Given the description of an element on the screen output the (x, y) to click on. 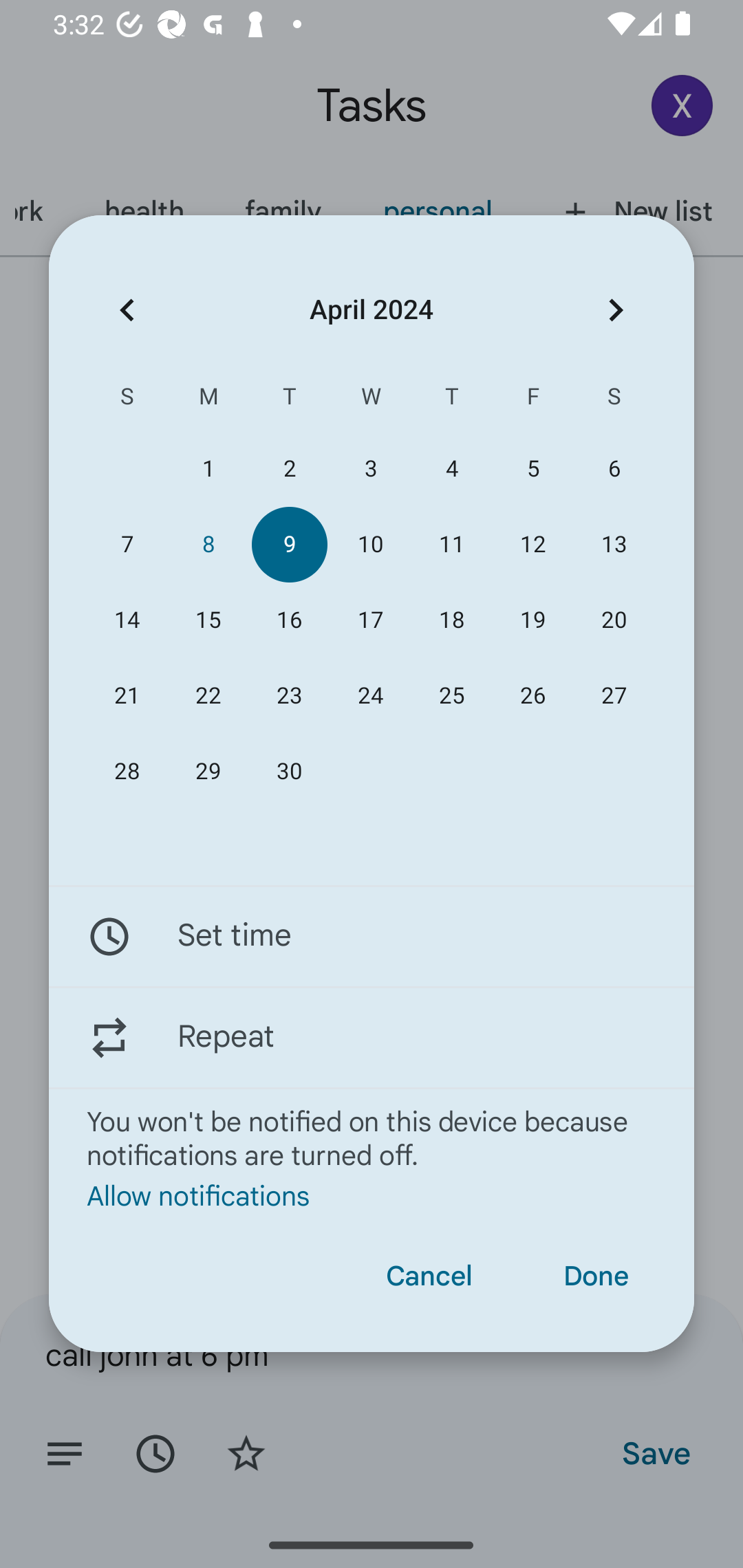
Previous month (126, 309)
Next month (615, 309)
1 01 April 2024 (207, 468)
2 02 April 2024 (288, 468)
3 03 April 2024 (370, 468)
4 04 April 2024 (451, 468)
5 05 April 2024 (532, 468)
6 06 April 2024 (613, 468)
7 07 April 2024 (126, 543)
8 08 April 2024 (207, 543)
9 09 April 2024 (288, 543)
10 10 April 2024 (370, 543)
11 11 April 2024 (451, 543)
12 12 April 2024 (532, 543)
13 13 April 2024 (613, 543)
14 14 April 2024 (126, 619)
15 15 April 2024 (207, 619)
16 16 April 2024 (288, 619)
17 17 April 2024 (370, 619)
18 18 April 2024 (451, 619)
19 19 April 2024 (532, 619)
20 20 April 2024 (613, 619)
21 21 April 2024 (126, 695)
22 22 April 2024 (207, 695)
23 23 April 2024 (288, 695)
24 24 April 2024 (370, 695)
25 25 April 2024 (451, 695)
26 26 April 2024 (532, 695)
27 27 April 2024 (613, 695)
28 28 April 2024 (126, 771)
29 29 April 2024 (207, 771)
30 30 April 2024 (288, 771)
Set time (371, 936)
Repeat (371, 1036)
Allow notifications (371, 1195)
Cancel (429, 1275)
Done (595, 1275)
